Given the description of an element on the screen output the (x, y) to click on. 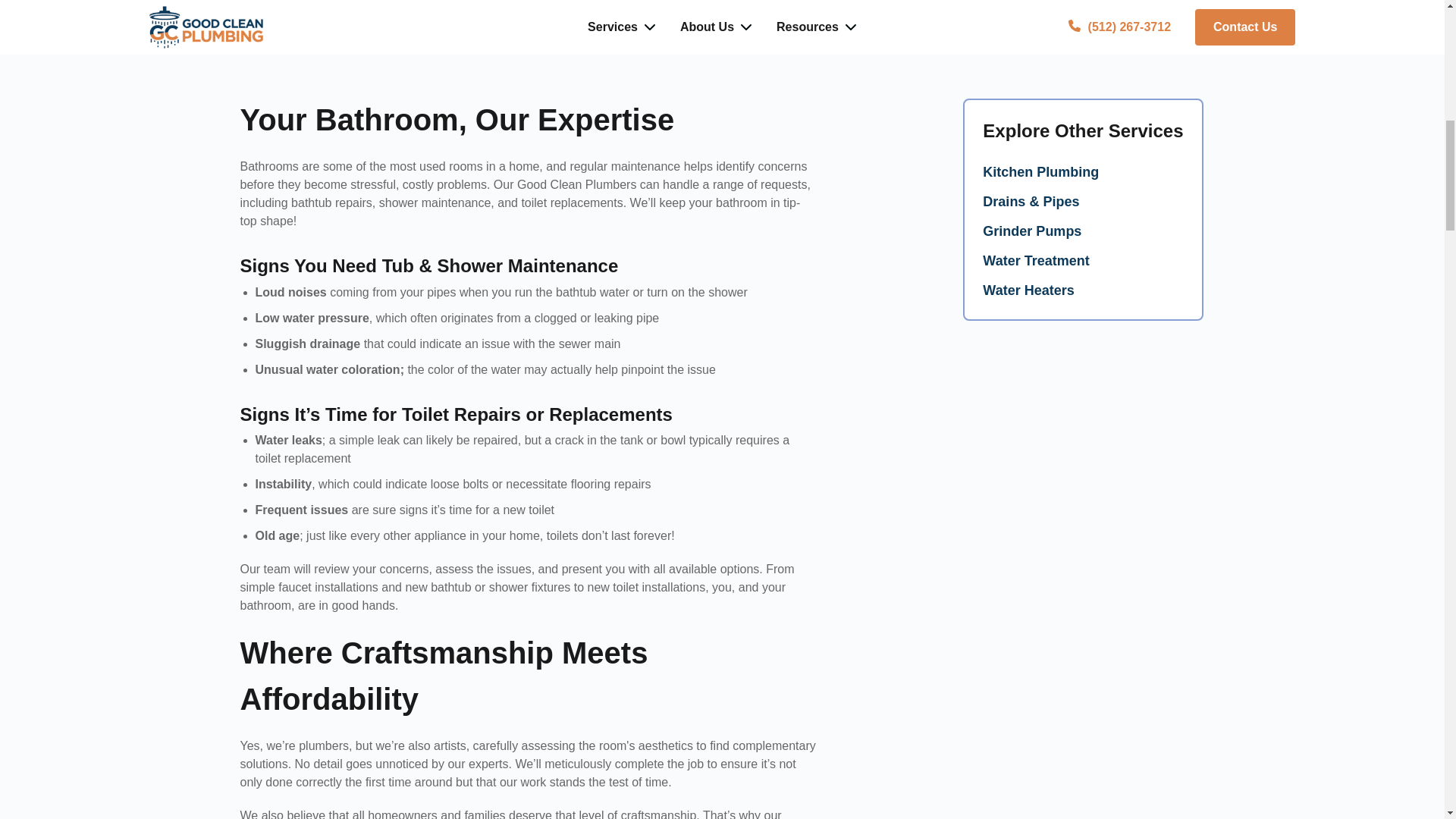
Kitchen Plumbing (1082, 172)
Water Treatment (1082, 260)
Grinder Pumps (1082, 231)
Water Heaters (1082, 290)
